Given the description of an element on the screen output the (x, y) to click on. 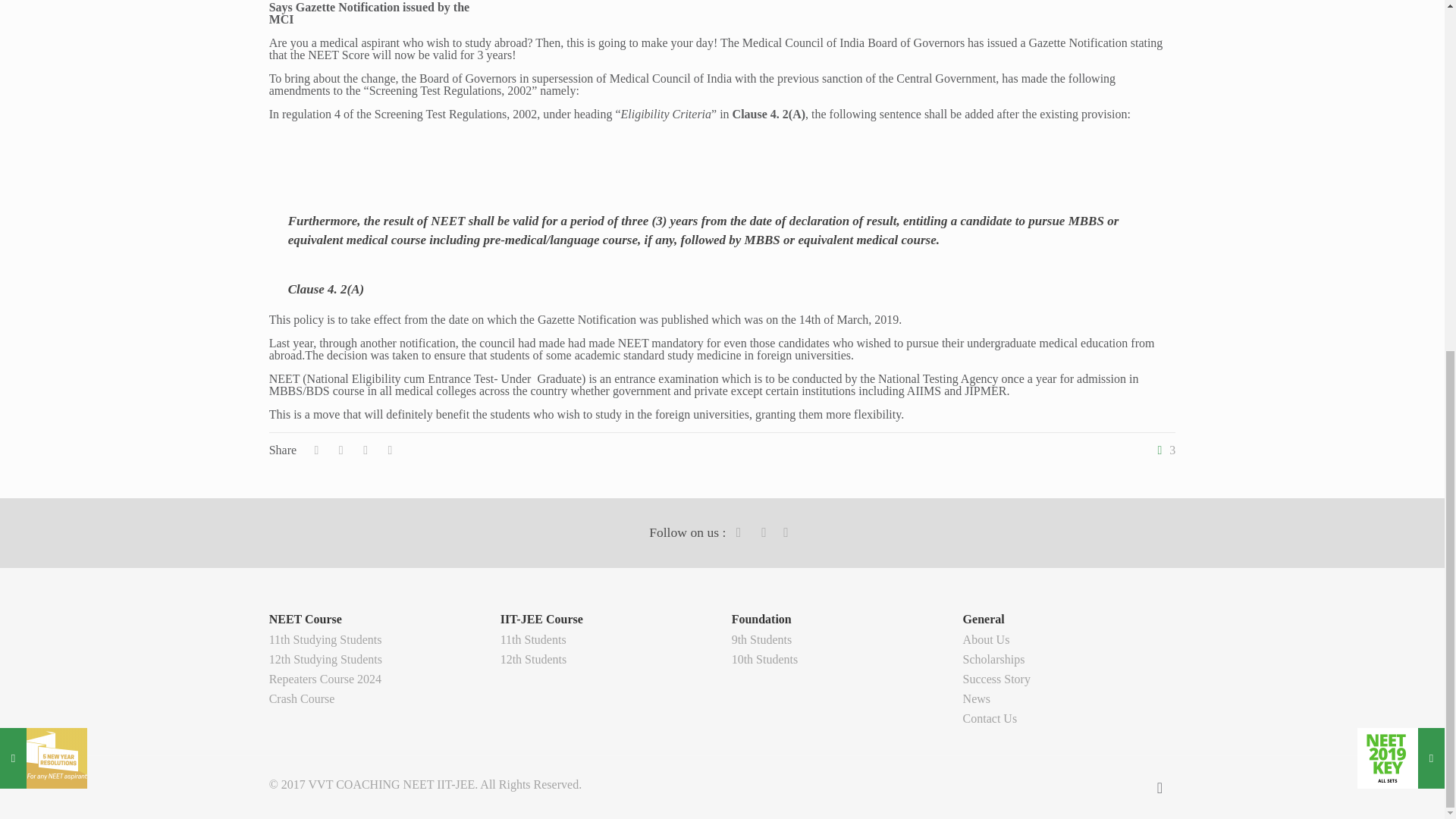
9th Students (762, 639)
Success Story (996, 678)
Crash Course (301, 698)
News (976, 698)
11th Studying Students (325, 639)
10th Students (764, 658)
11th Students (533, 639)
3 (1162, 450)
Contact Us (989, 717)
Repeaters Course 2024 (325, 678)
12th Studying Students (325, 658)
About Us (986, 639)
12th Students (533, 658)
Scholarships (993, 658)
